Given the description of an element on the screen output the (x, y) to click on. 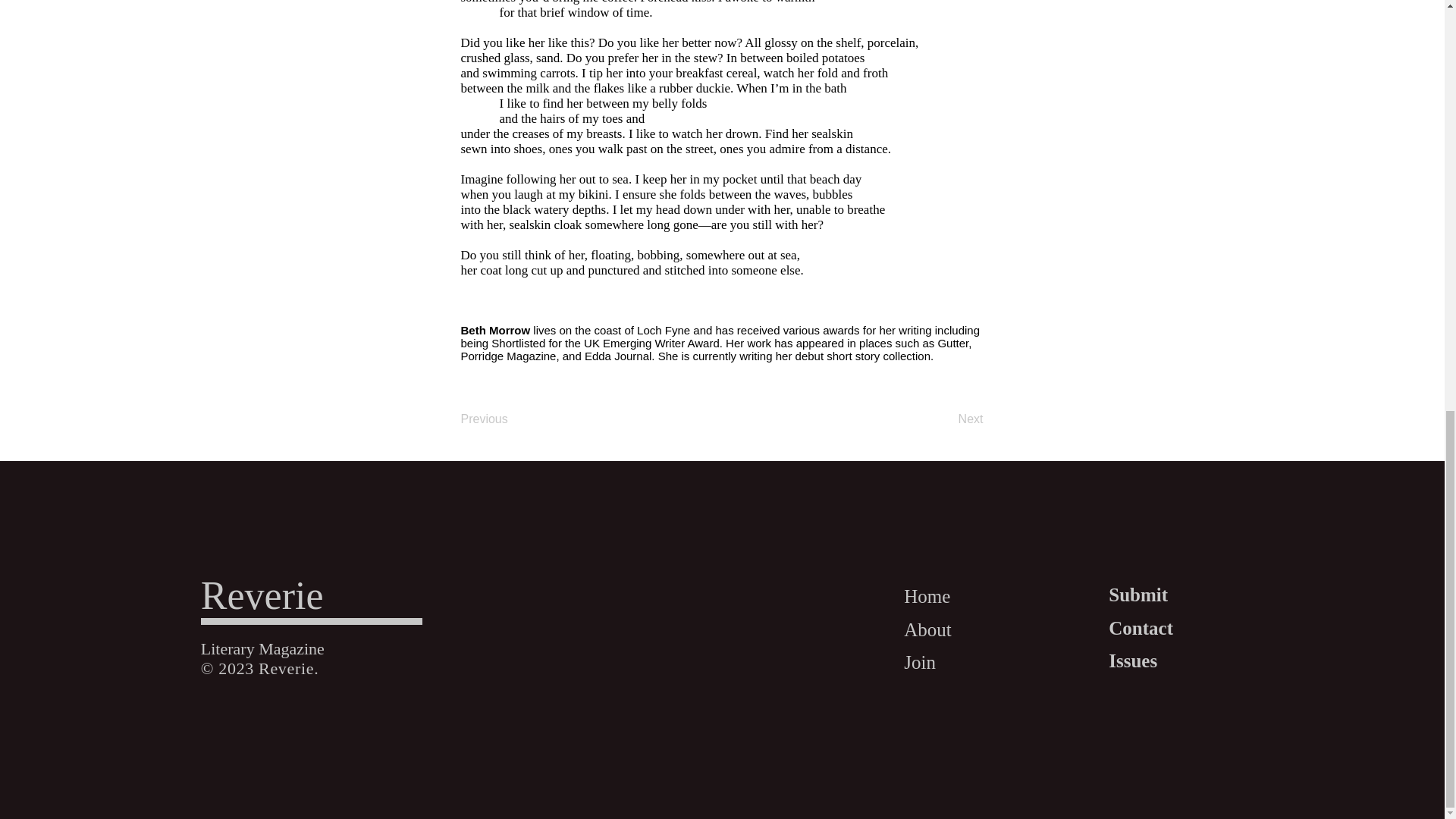
Reverie (261, 595)
Submit (1137, 594)
Contact (1140, 627)
Next (944, 419)
Join (920, 661)
Home (927, 595)
About (928, 628)
Previous (510, 419)
Issues (1132, 660)
